Given the description of an element on the screen output the (x, y) to click on. 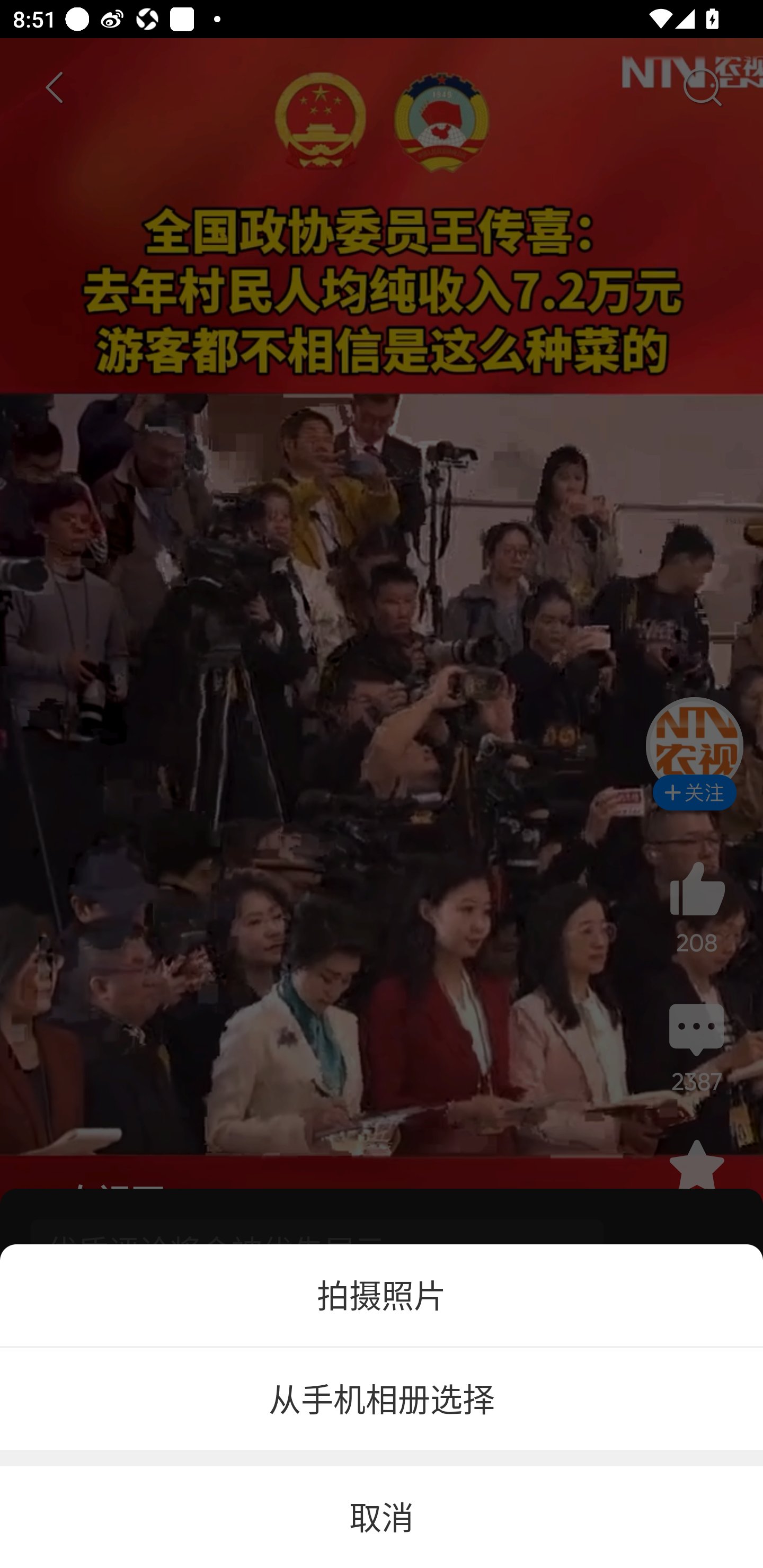
拍摄照片 (381, 1294)
从手机相册选择 (381, 1399)
取消 (381, 1517)
